Given the description of an element on the screen output the (x, y) to click on. 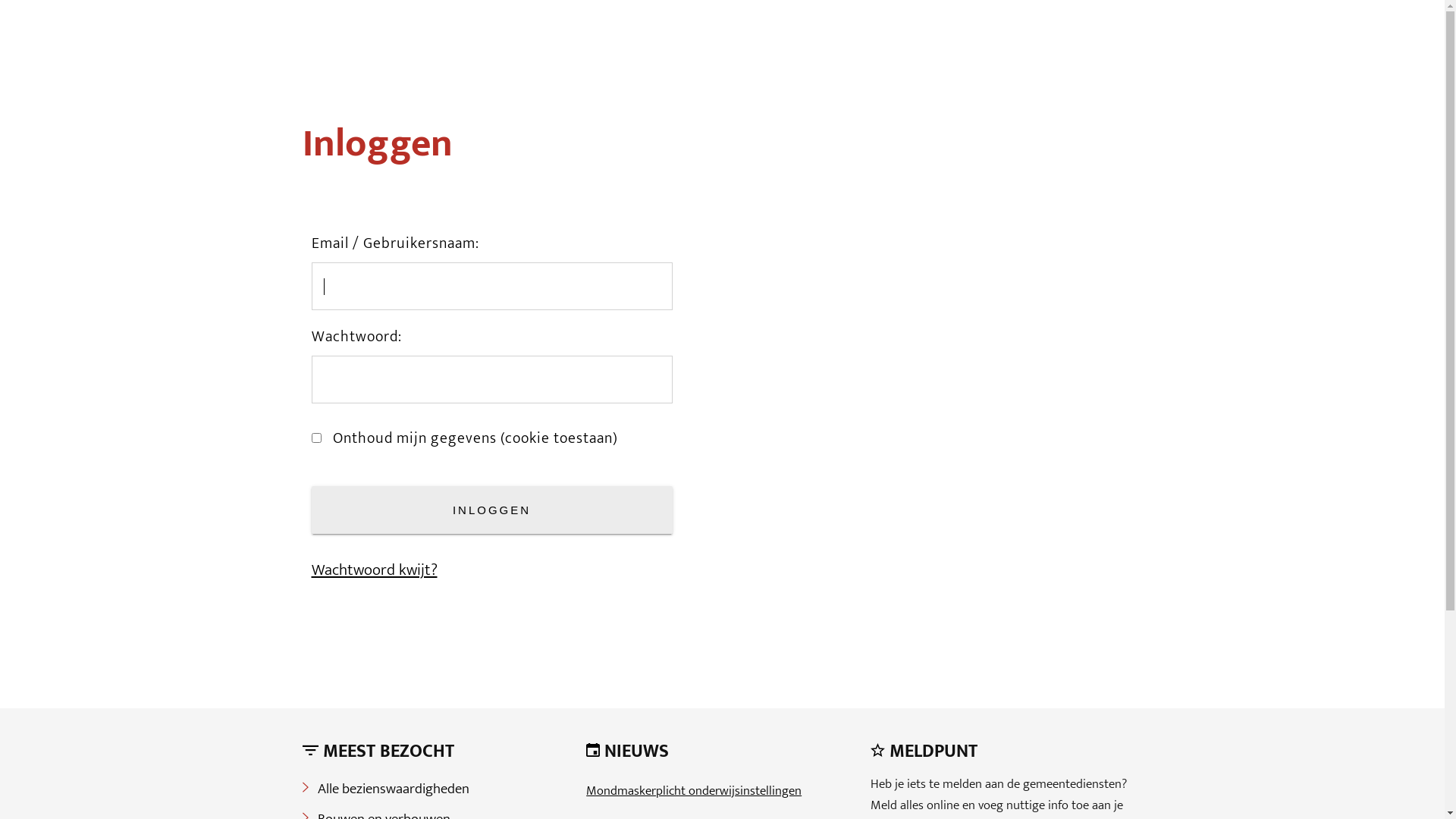
Alle bezienswaardigheden Element type: text (392, 788)
Inloggen Element type: text (490, 509)
Wachtwoord kwijt? Element type: text (373, 569)
Mondmaskerplicht onderwijsinstellingen Element type: text (693, 790)
